Given the description of an element on the screen output the (x, y) to click on. 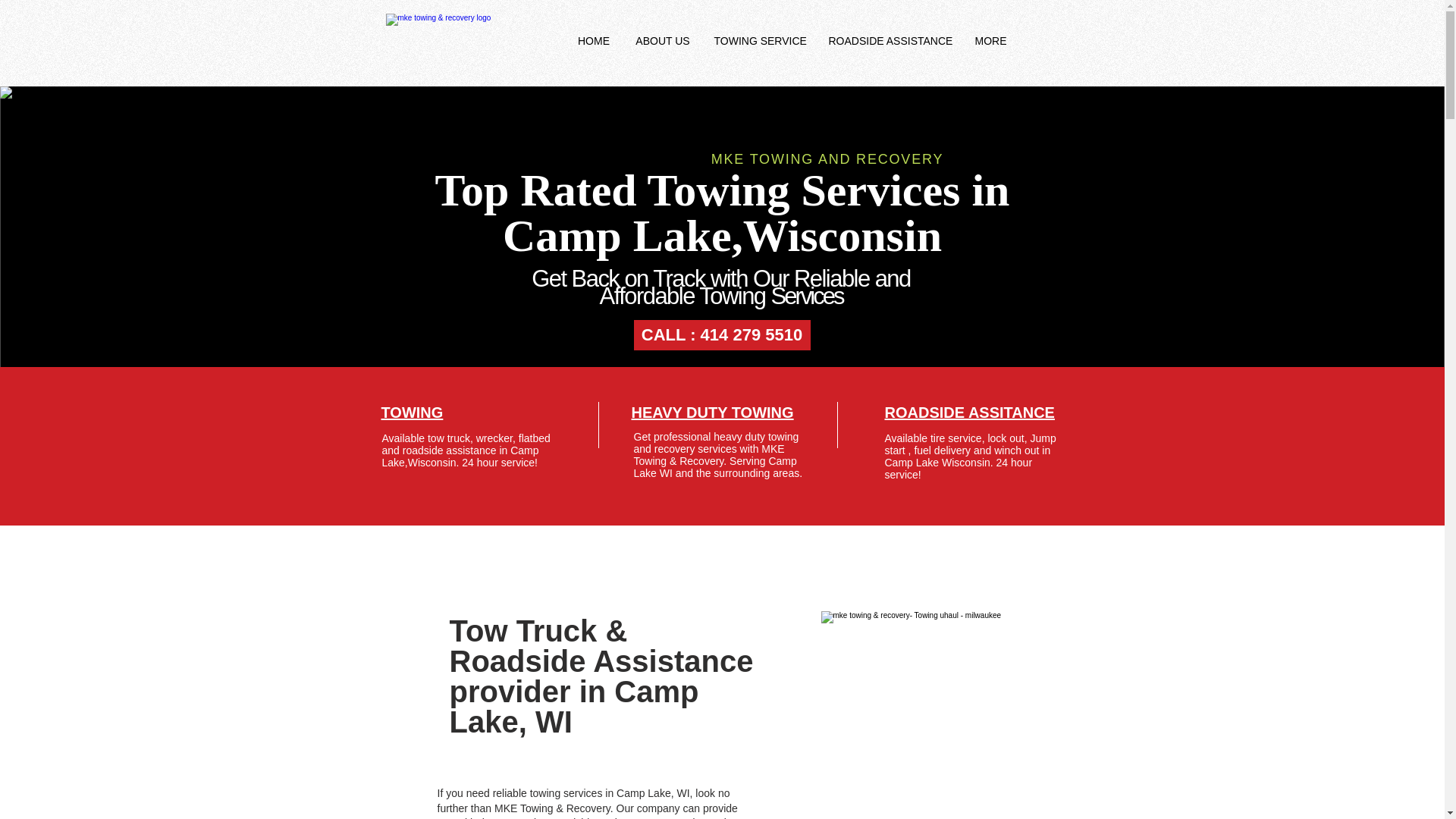
TOWING SERVICE (758, 40)
TOWING (411, 412)
car towing near me (944, 686)
CALL : 414 279 5510 (721, 335)
HOME (593, 40)
ABOUT US (663, 40)
HEAVY DUTY TOWING (711, 412)
ROADSIDE ASSISTANCE (889, 40)
ROADSIDE ASSITANCE (968, 412)
Towing service available (468, 40)
